Given the description of an element on the screen output the (x, y) to click on. 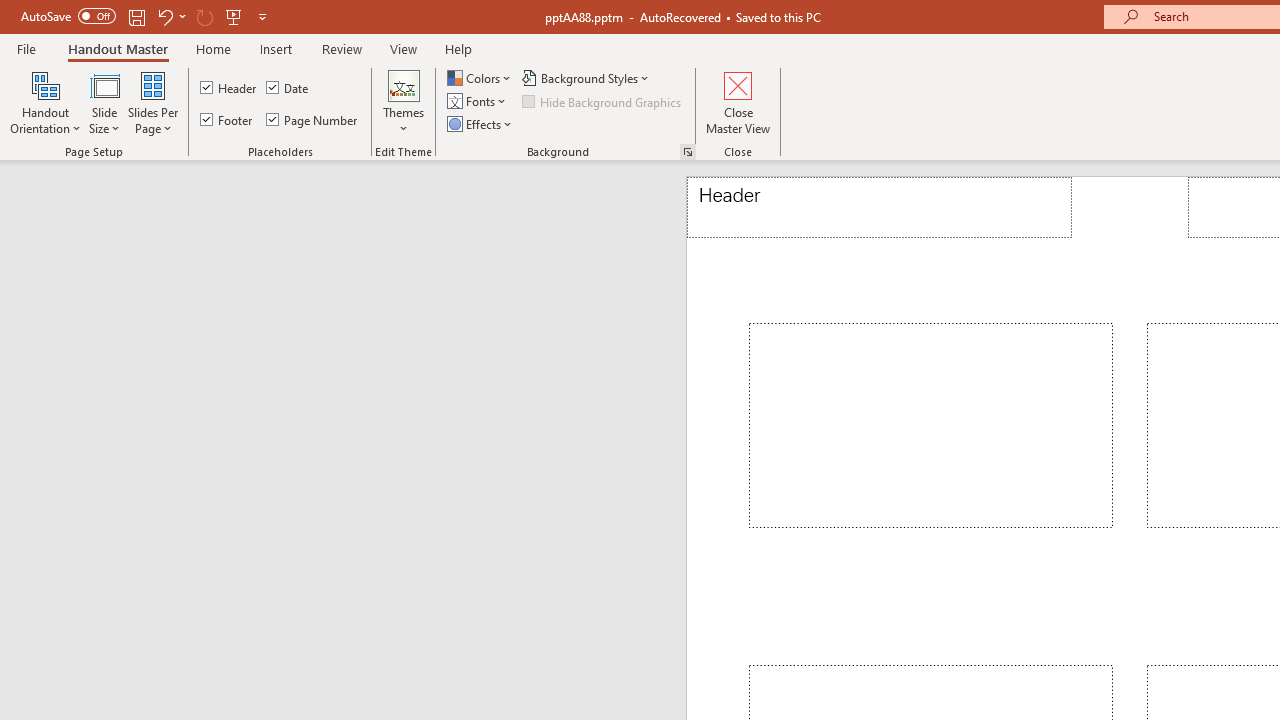
Handout Master (117, 48)
Colors (481, 78)
Effects (481, 124)
Hide Background Graphics (603, 101)
Page Number (312, 119)
Header (879, 207)
Fonts (478, 101)
